Given the description of an element on the screen output the (x, y) to click on. 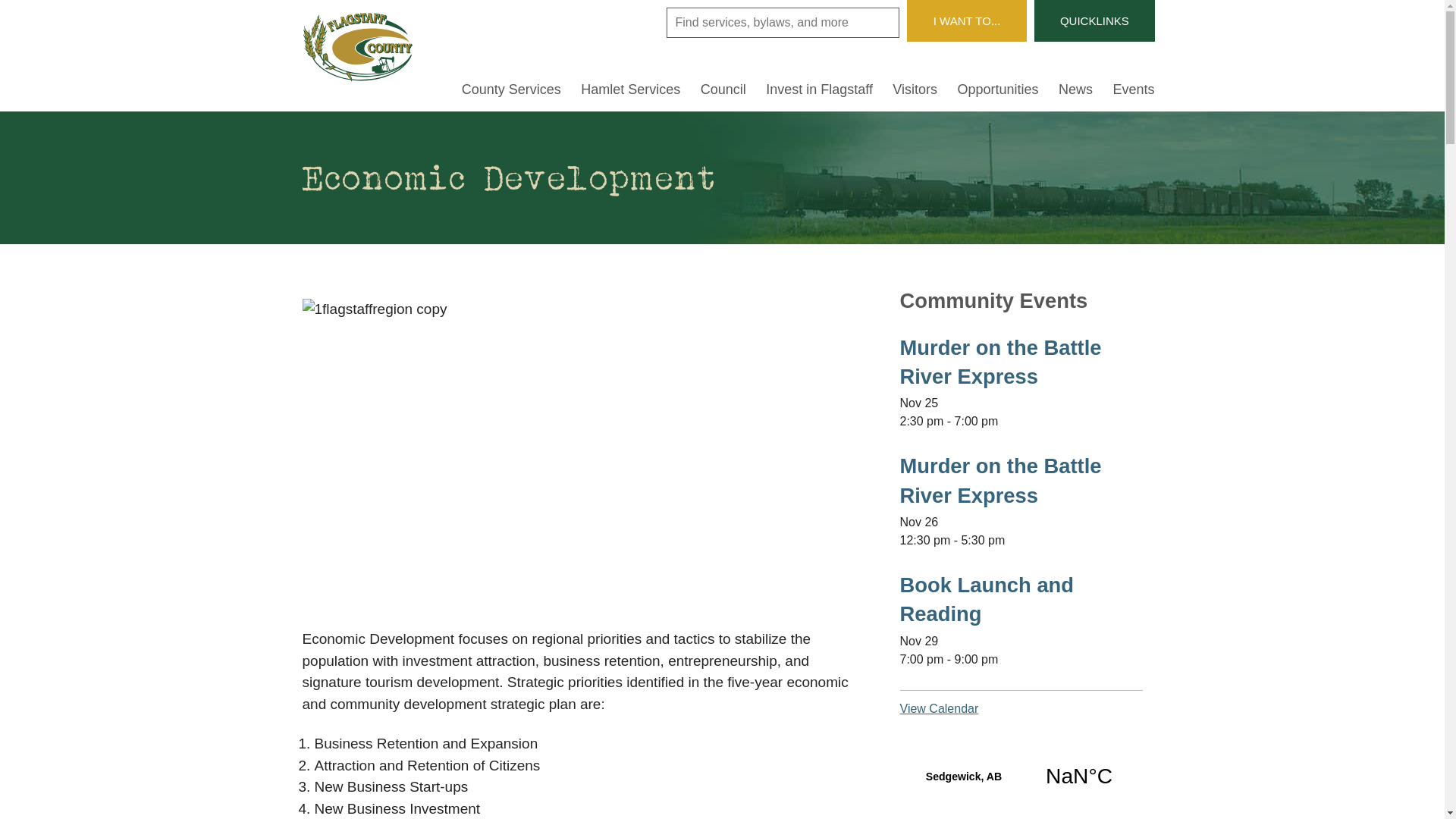
News Element type: text (1075, 92)
Murder on the Battle River Express Element type: text (1000, 480)
Opportunities Element type: text (997, 92)
Events Element type: text (1133, 92)
I WANT TO... Element type: text (966, 20)
Visitors Element type: text (914, 92)
View Calendar Element type: text (938, 708)
Invest in Flagstaff Element type: text (818, 92)
Hamlet Services Element type: text (630, 92)
Book Launch and Reading Element type: text (986, 599)
QUICKLINKS Element type: text (1094, 20)
Council Element type: text (723, 92)
Weather Widget Element type: hover (1020, 776)
Murder on the Battle River Express Element type: text (1000, 361)
Sedgewick, AB Element type: text (1020, 776)
County Services Element type: text (511, 92)
